Given the description of an element on the screen output the (x, y) to click on. 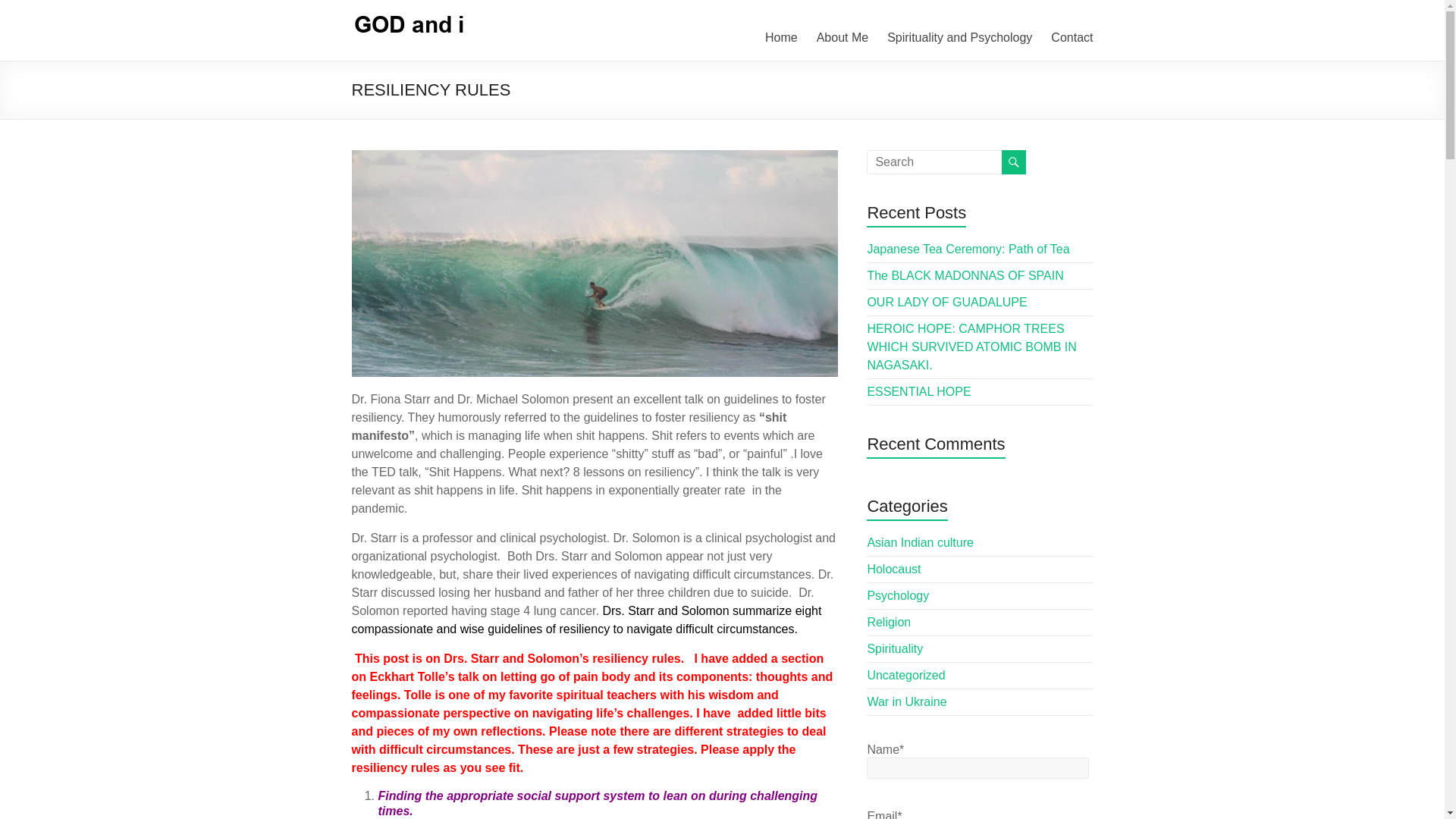
OUR LADY OF GUADALUPE (946, 301)
Home (781, 37)
RESILIENCY RULES (595, 262)
Spirituality and Psychology (959, 37)
Uncategorized (905, 675)
ESSENTIAL HOPE (918, 391)
Asian Indian culture (920, 542)
Holocaust (893, 568)
Psychology (897, 594)
Religion (888, 621)
Contact (1072, 37)
War in Ukraine (906, 701)
About Me (841, 37)
Japanese Tea Ceremony: Path of Tea (967, 248)
